Given the description of an element on the screen output the (x, y) to click on. 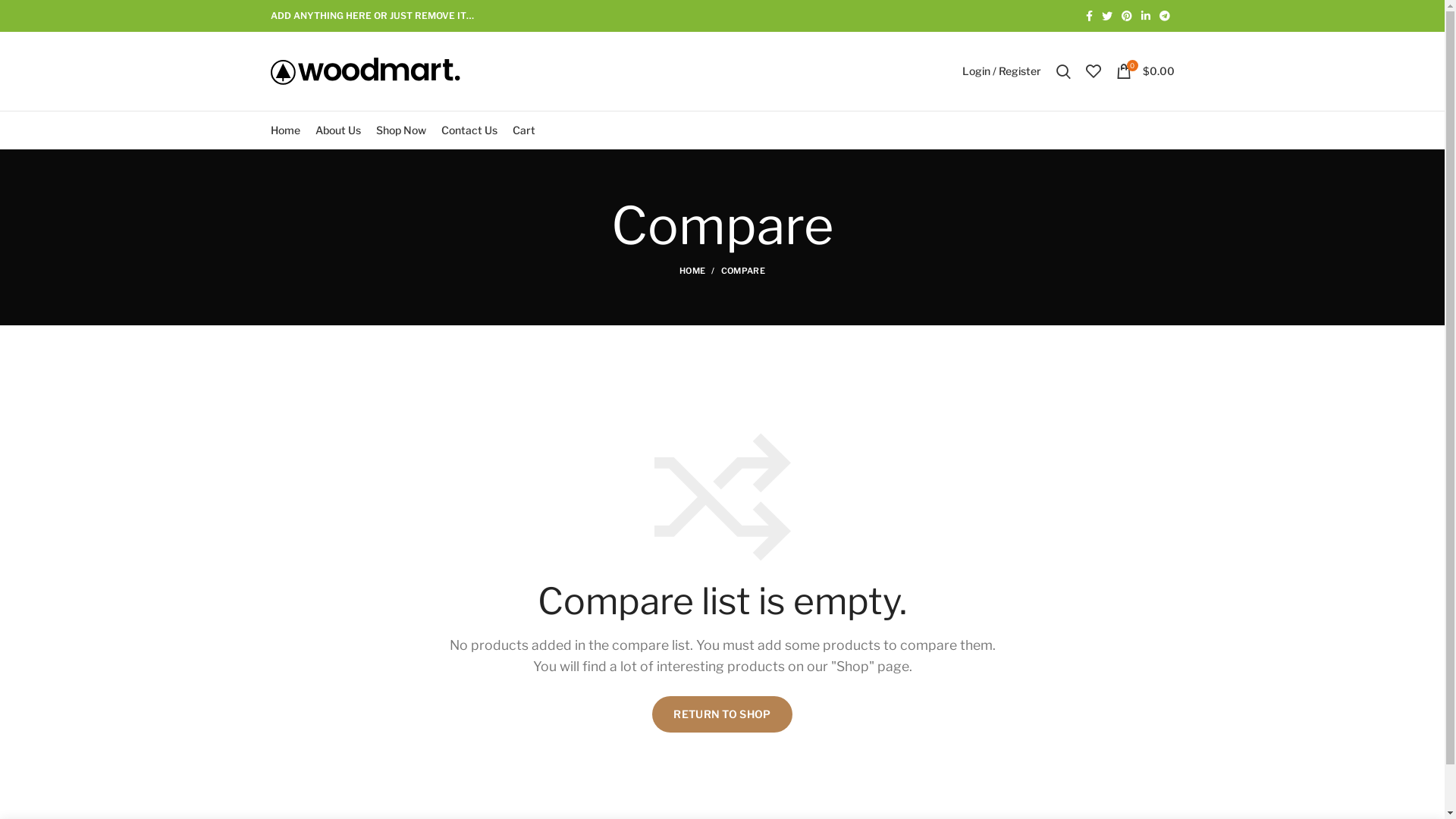
Contact Us Element type: text (992, 734)
Exhibition Pharmacy Element type: text (719, 797)
Log in Element type: text (915, 315)
Shop Now Element type: text (400, 130)
+6139 6629444 Element type: text (774, 708)
About Us Element type: text (987, 682)
Home Element type: text (979, 655)
Login / Register Element type: text (1000, 71)
About Us Element type: text (337, 130)
info@exhibitionpharmacy.com.au Element type: text (814, 734)
My Wishlist Element type: hover (1093, 71)
Cart Element type: text (523, 130)
Home Element type: text (284, 130)
HOME Element type: text (700, 270)
Search Element type: hover (1062, 71)
Contact Us Element type: text (469, 130)
0
$0.00 Element type: text (1145, 71)
RETURN TO SHOP Element type: text (721, 714)
Shop Now Element type: text (990, 708)
